Given the description of an element on the screen output the (x, y) to click on. 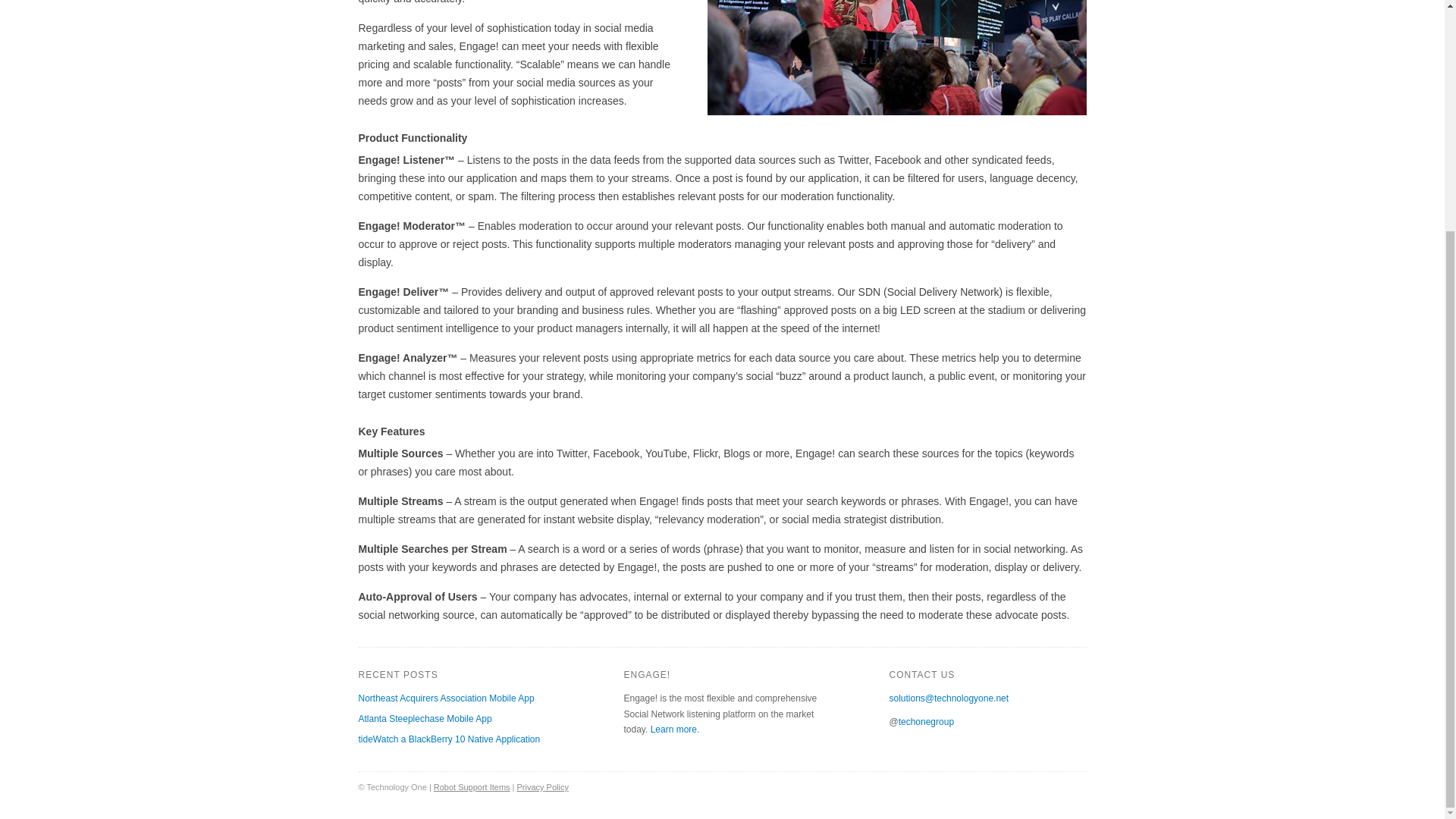
Learn more (673, 728)
tideWatch a BlackBerry 10 Native Application (449, 738)
techonegroup (925, 721)
Atlanta Steeplechase Mobile App (425, 718)
Robot Support Items (472, 786)
Northeast Acquirers Association Mobile App (446, 697)
Privacy Policy (542, 786)
